Given the description of an element on the screen output the (x, y) to click on. 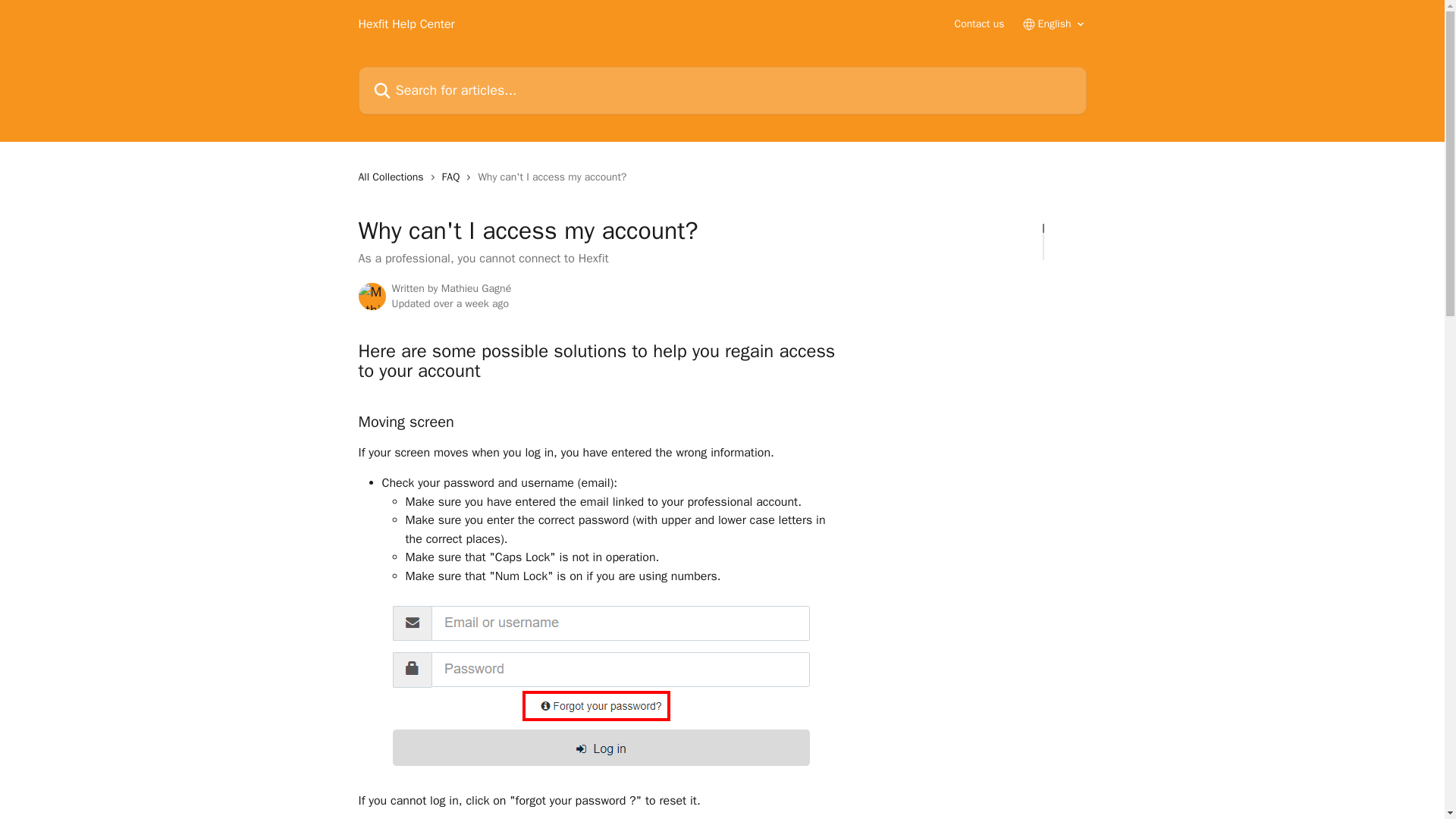
FAQ (453, 176)
All Collections (393, 176)
Contact us (979, 23)
